Given the description of an element on the screen output the (x, y) to click on. 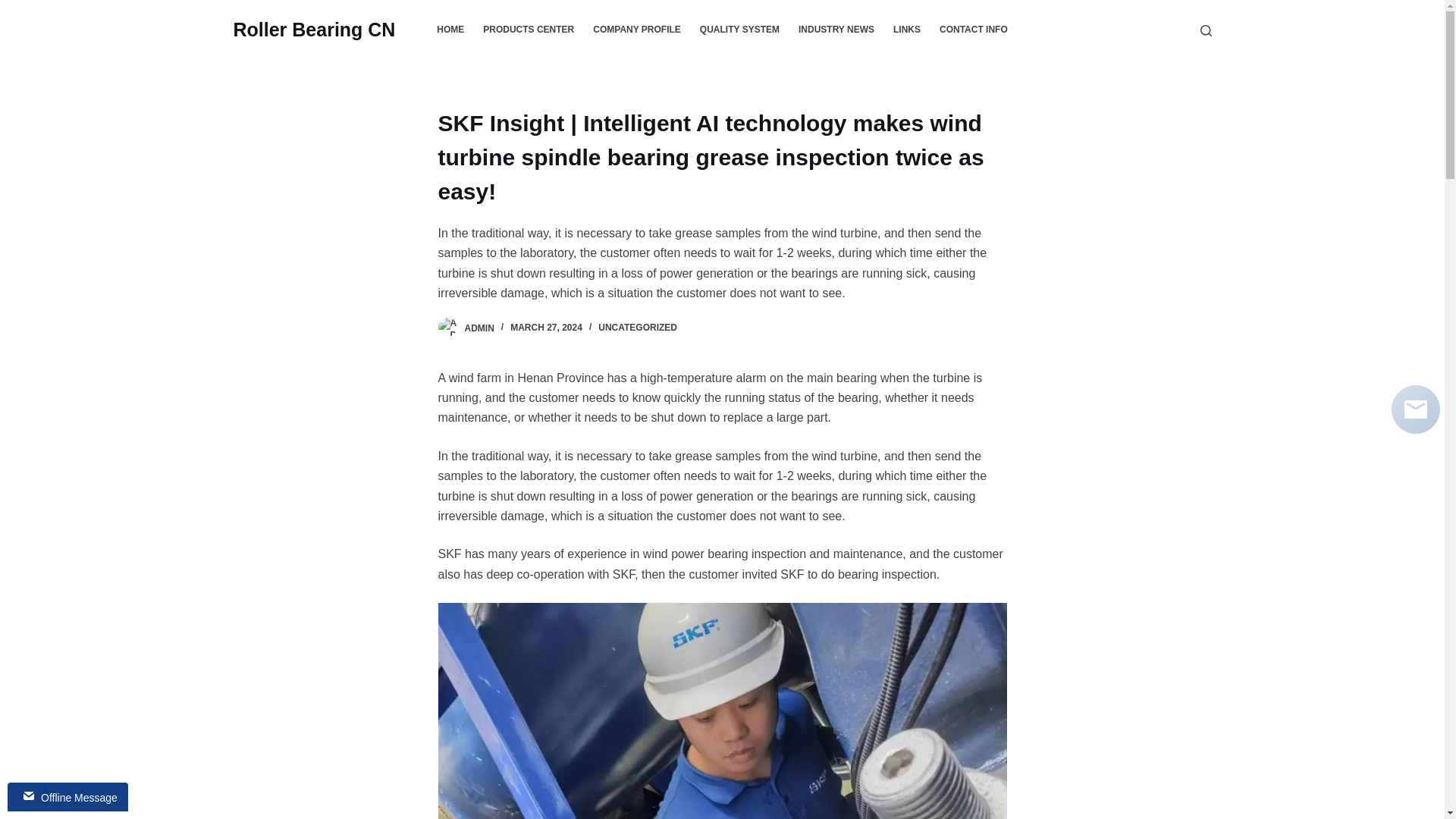
UNCATEGORIZED (637, 327)
PRODUCTS CENTER (528, 30)
CONTACT INFO (973, 30)
INDUSTRY NEWS (836, 30)
Posts by admin (478, 327)
Skip to content (15, 7)
ADMIN (478, 327)
Roller Bearing CN (314, 29)
COMPANY PROFILE (636, 30)
QUALITY SYSTEM (739, 30)
